Given the description of an element on the screen output the (x, y) to click on. 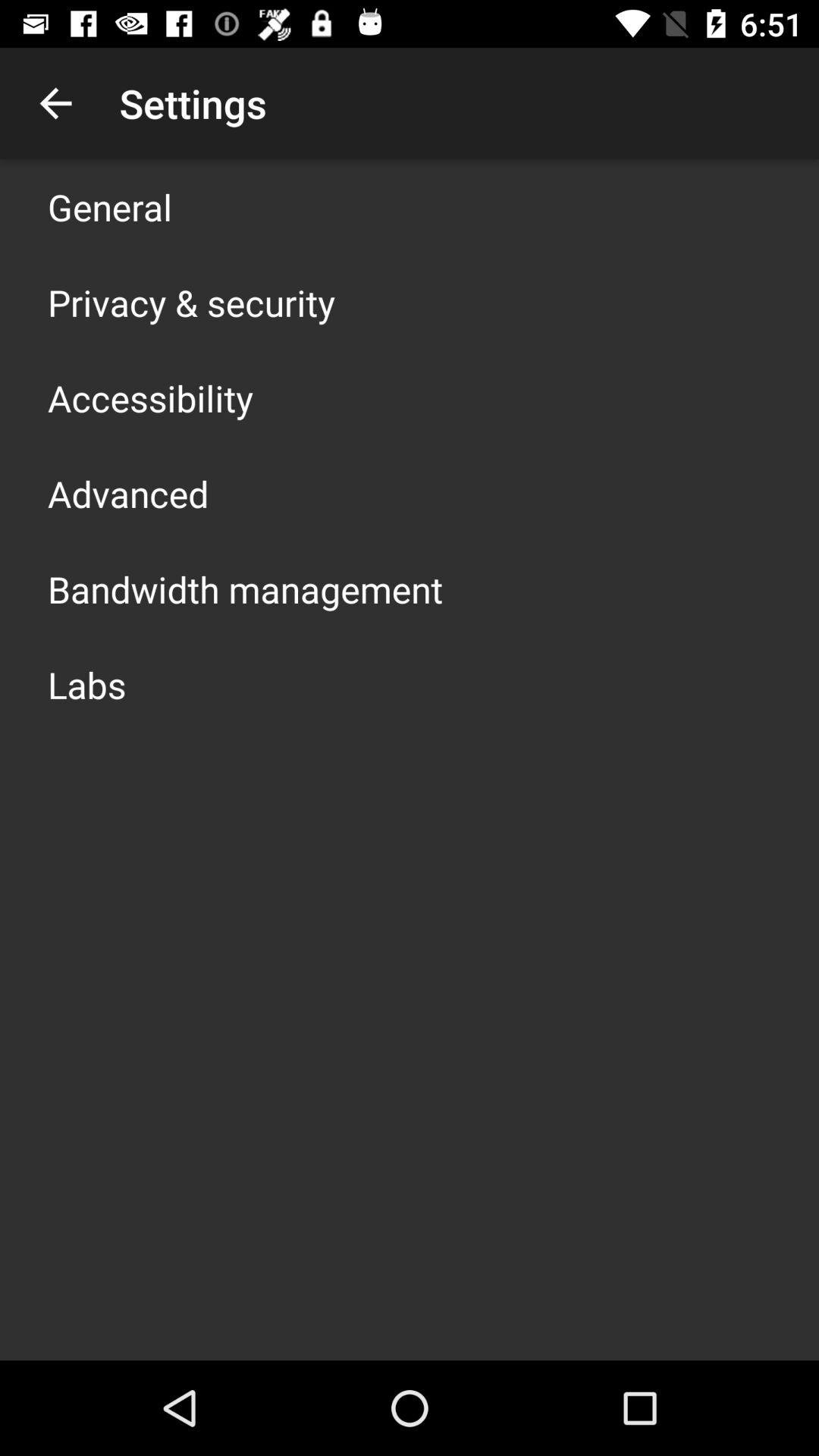
press the item next to the settings item (55, 103)
